Given the description of an element on the screen output the (x, y) to click on. 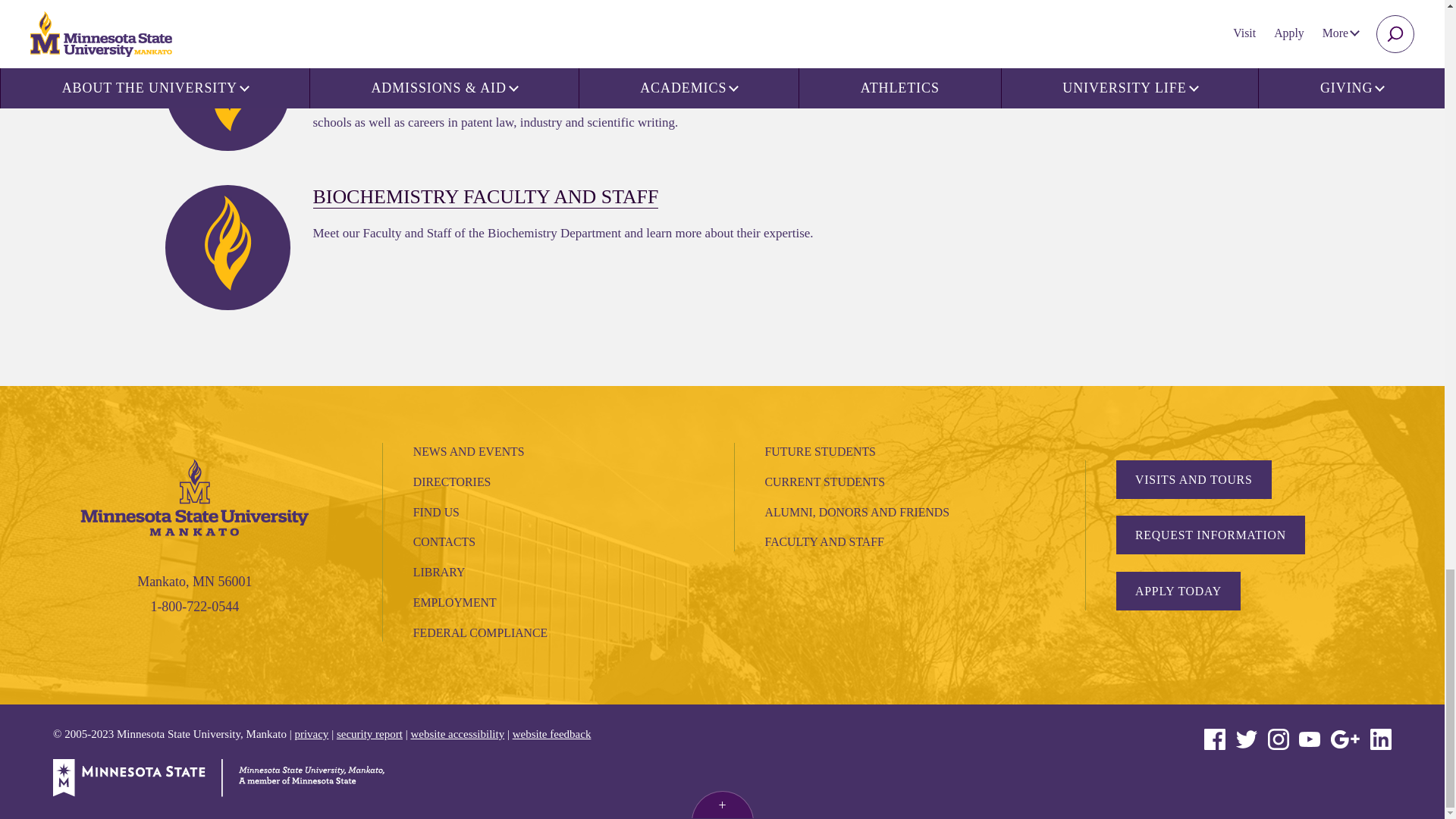
Request Information (1210, 534)
Visit Campus (1193, 479)
Minnesota State University, Mankato (194, 495)
